Given the description of an element on the screen output the (x, y) to click on. 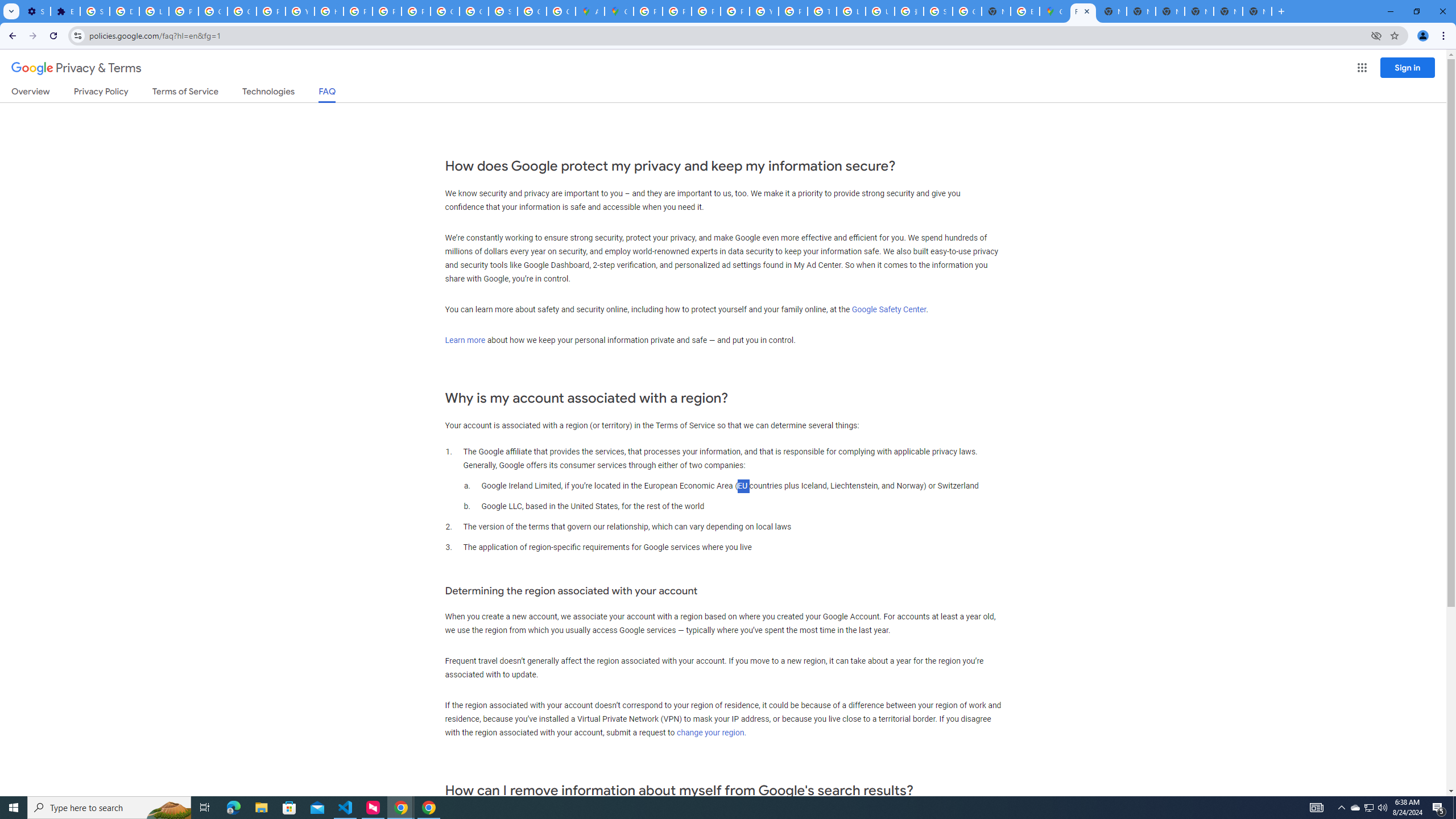
Google Maps (1054, 11)
New Tab (996, 11)
Sign in - Google Accounts (95, 11)
YouTube (300, 11)
Privacy Help Center - Policies Help (357, 11)
Google Maps (619, 11)
